Given the description of an element on the screen output the (x, y) to click on. 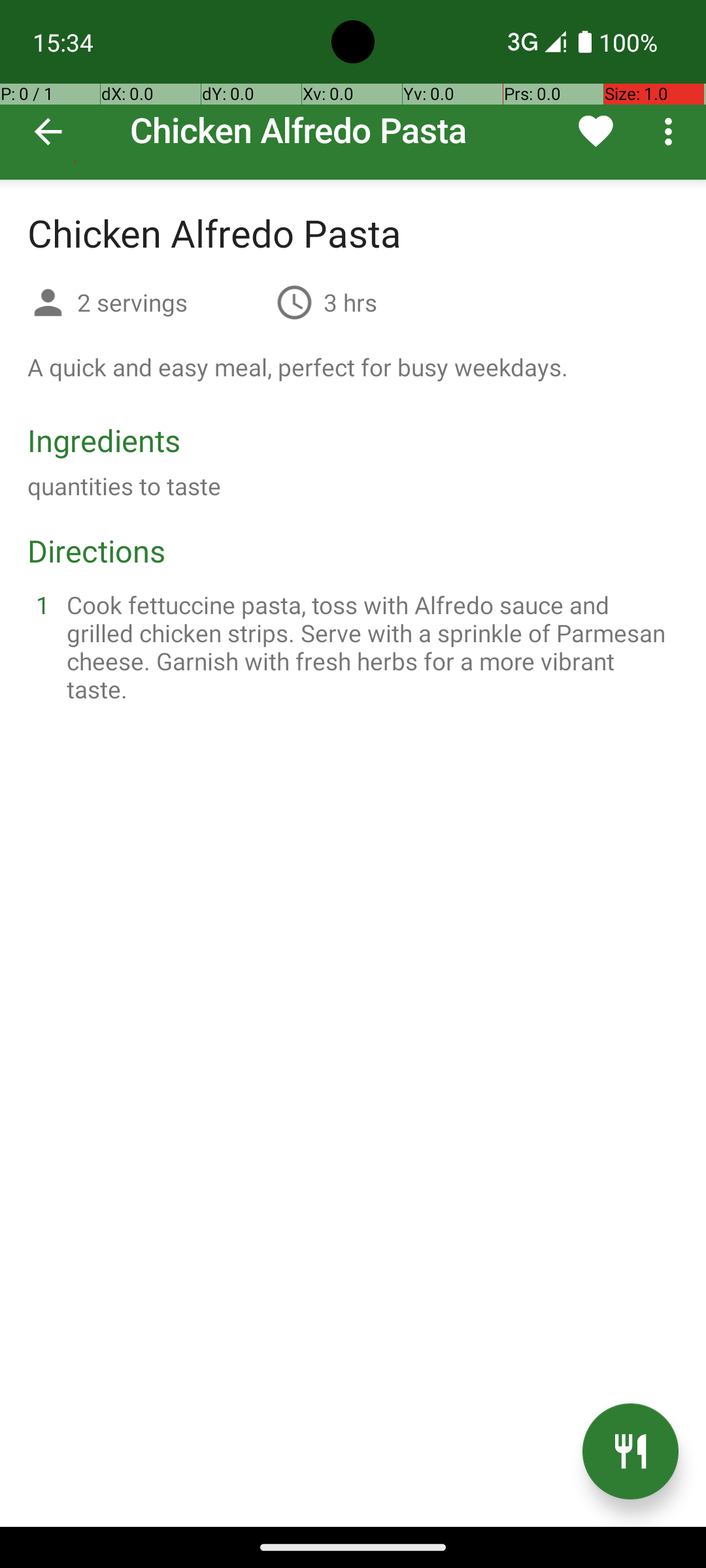
Chicken Alfredo Pasta Element type: android.widget.FrameLayout (353, 89)
Remove from favorites Element type: android.widget.Button (595, 131)
2 servings Element type: android.widget.TextView (170, 301)
3 hrs Element type: android.widget.TextView (350, 301)
quantities to taste Element type: android.widget.TextView (123, 485)
Cook fettuccine pasta, toss with Alfredo sauce and grilled chicken strips. Serve with a sprinkle of Parmesan cheese. Garnish with fresh herbs for a more vibrant taste. Element type: android.widget.TextView (368, 646)
